Given the description of an element on the screen output the (x, y) to click on. 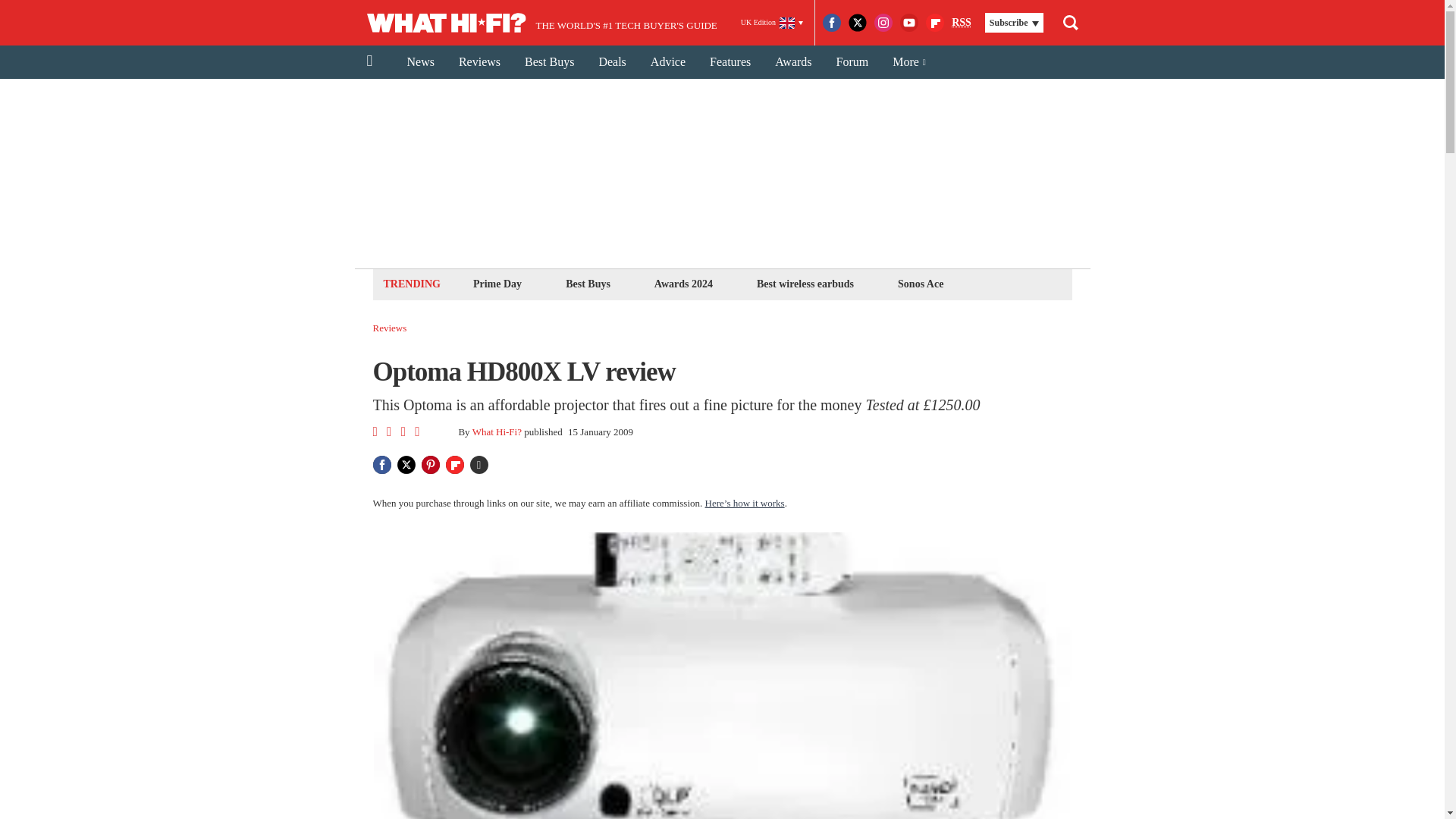
Deals (611, 61)
Best Buys (587, 283)
Reviews (389, 327)
Prime Day (497, 283)
UK Edition (771, 22)
Awards 2024 (683, 283)
Sonos Ace (920, 283)
Best wireless earbuds (805, 283)
Best Buys (549, 61)
Forum (852, 61)
RSS (961, 22)
Really Simple Syndication (961, 21)
News (419, 61)
Reviews (479, 61)
